Given the description of an element on the screen output the (x, y) to click on. 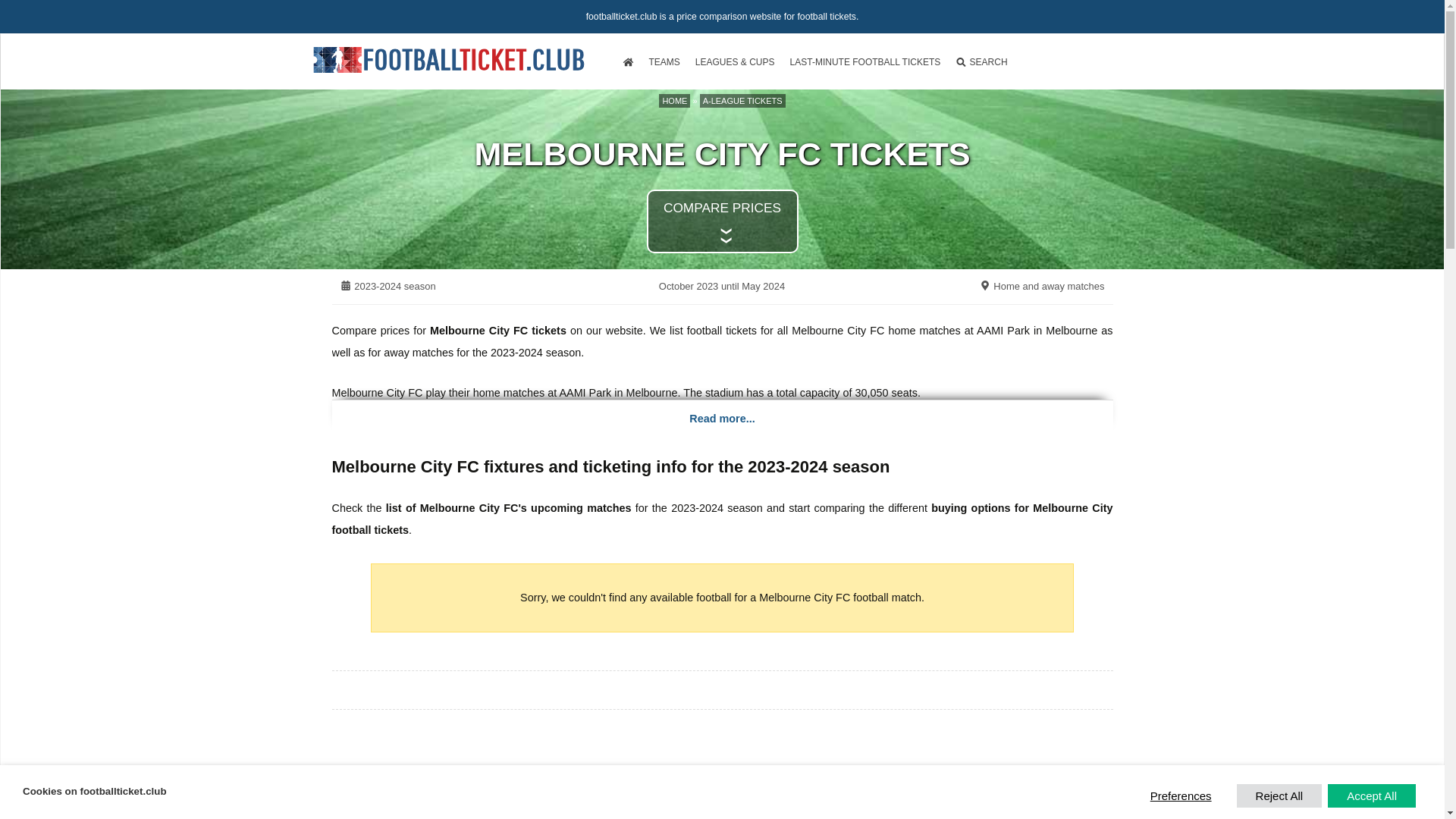
INTER MIAMI CF TICKETS (801, 132)
CHELSEA TICKETS (483, 273)
BRIGHTON TICKETS (483, 296)
FC PORTO TICKETS (643, 343)
NEW YORK CITY FC TICKETS (801, 202)
AJAX AMSTERDAM TICKETS (643, 320)
AC MILAN TICKETS (643, 178)
NEW YORK RED BULLS TICKETS (801, 178)
REAL MADRID TICKETS (643, 132)
ARSENAL TICKETS (483, 155)
